Given the description of an element on the screen output the (x, y) to click on. 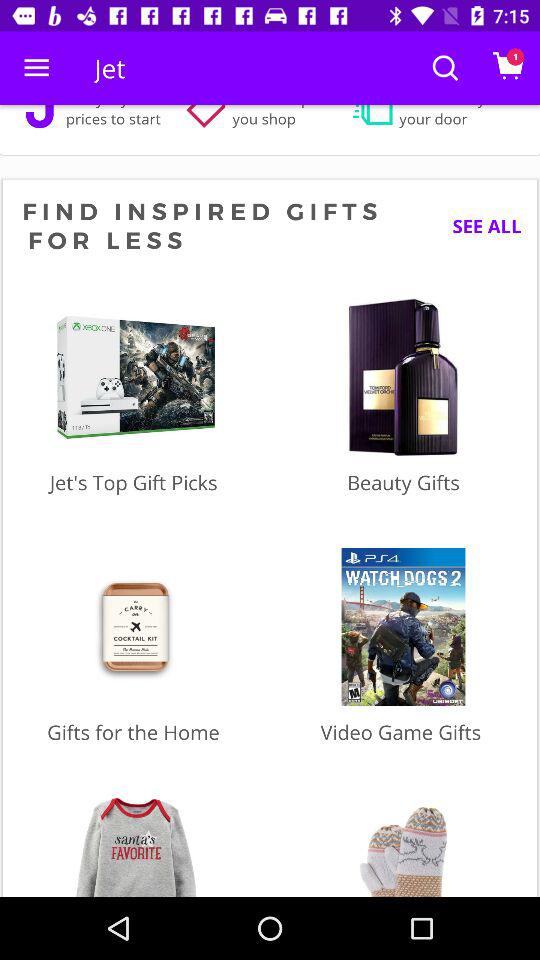
click item to the left of the jet (36, 68)
